Given the description of an element on the screen output the (x, y) to click on. 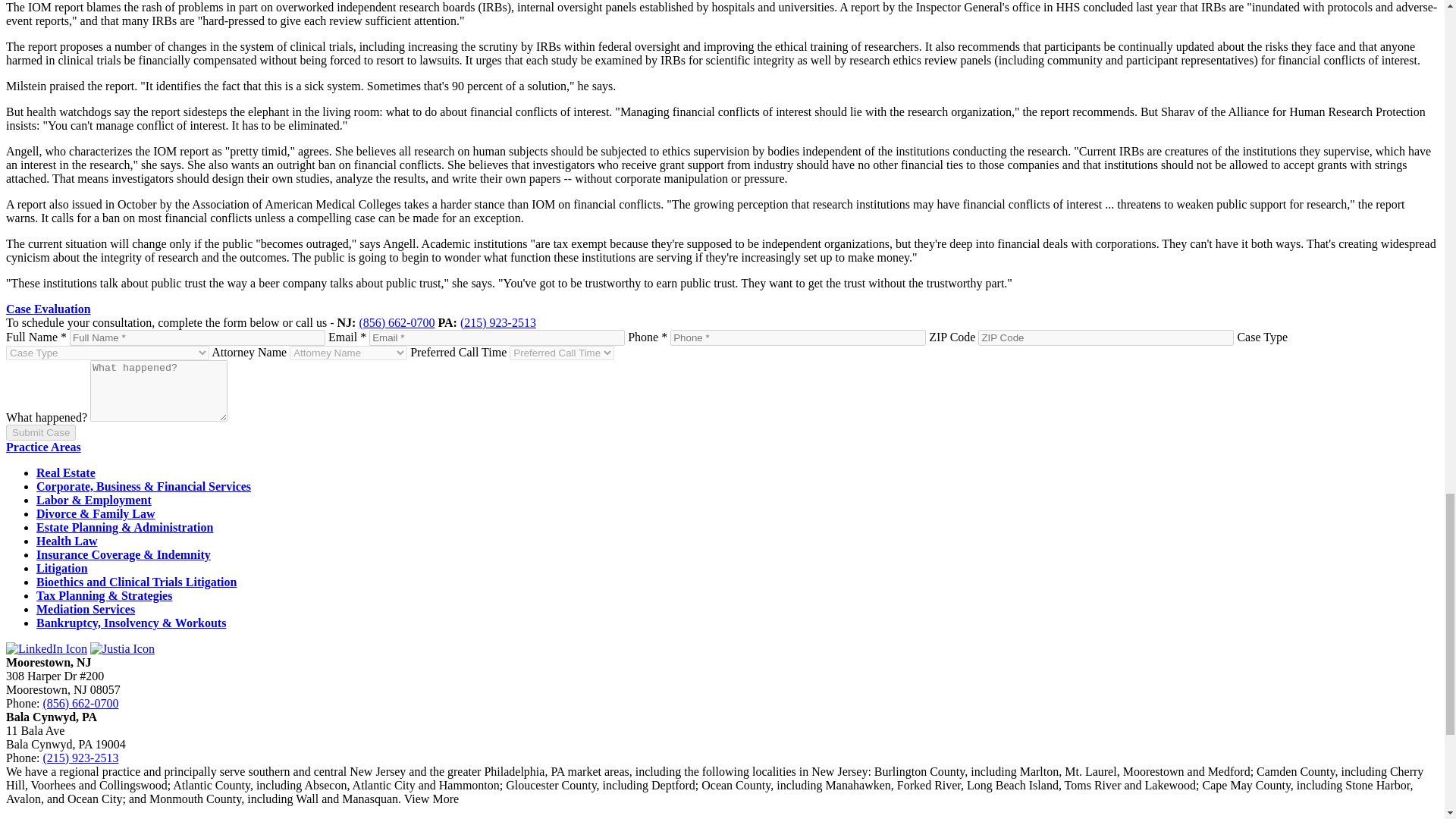
Justia (122, 648)
Mediation Services (85, 608)
Case Type (107, 352)
Attorney Name (348, 352)
Submit Case (40, 432)
LinkedIn (46, 648)
Preferred Call Time (561, 352)
Case Evaluation (47, 308)
Litigation (61, 567)
Practice Areas (43, 446)
Bioethics and Clinical Trials Litigation (135, 581)
Health Law (66, 540)
Real Estate (66, 472)
